Given the description of an element on the screen output the (x, y) to click on. 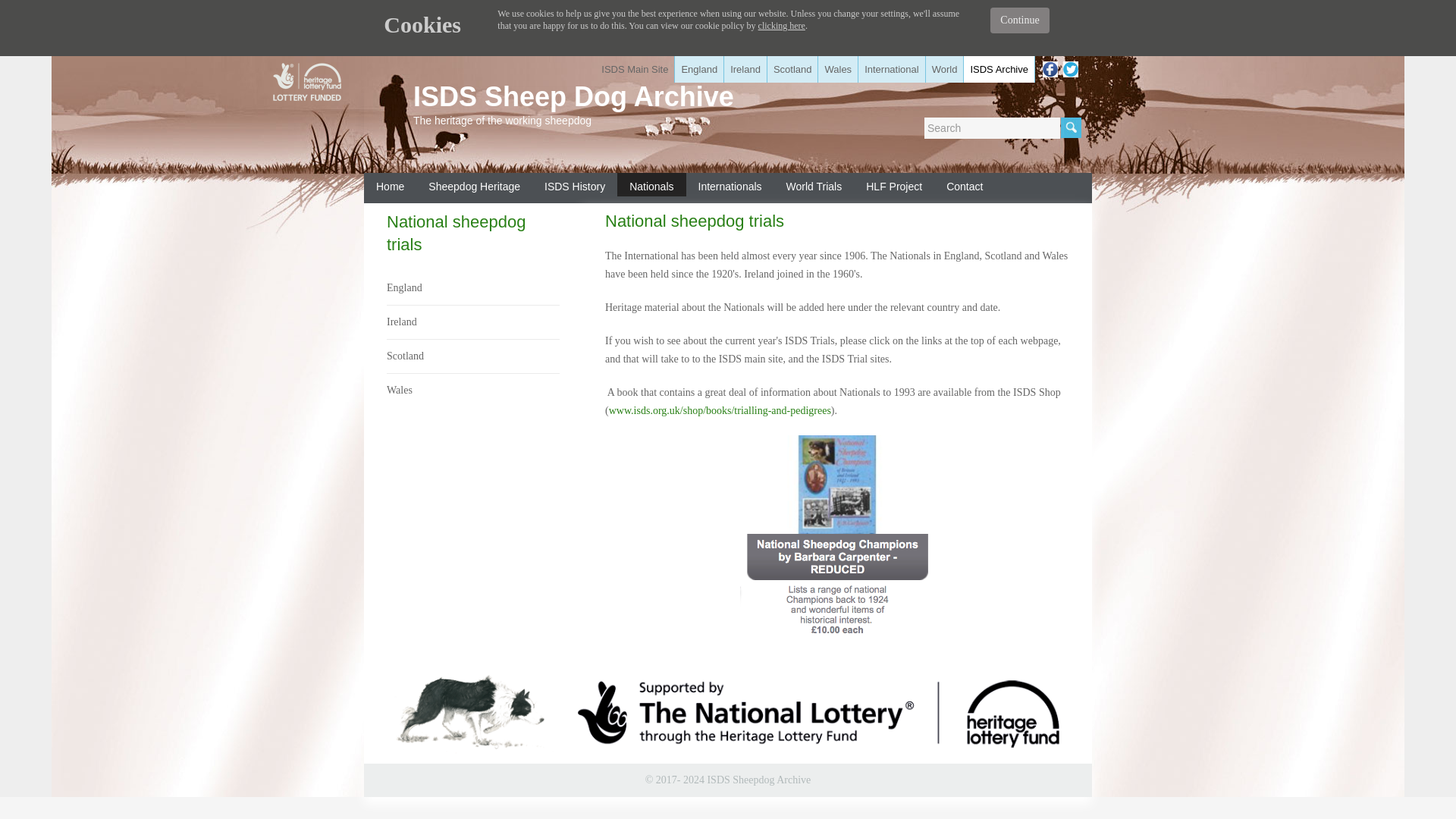
Continue (1019, 20)
Contact (964, 184)
Sheepdog Heritage (474, 184)
World (944, 69)
Ireland (473, 321)
England (699, 69)
Wales (838, 69)
Search (991, 127)
International (892, 69)
